Given the description of an element on the screen output the (x, y) to click on. 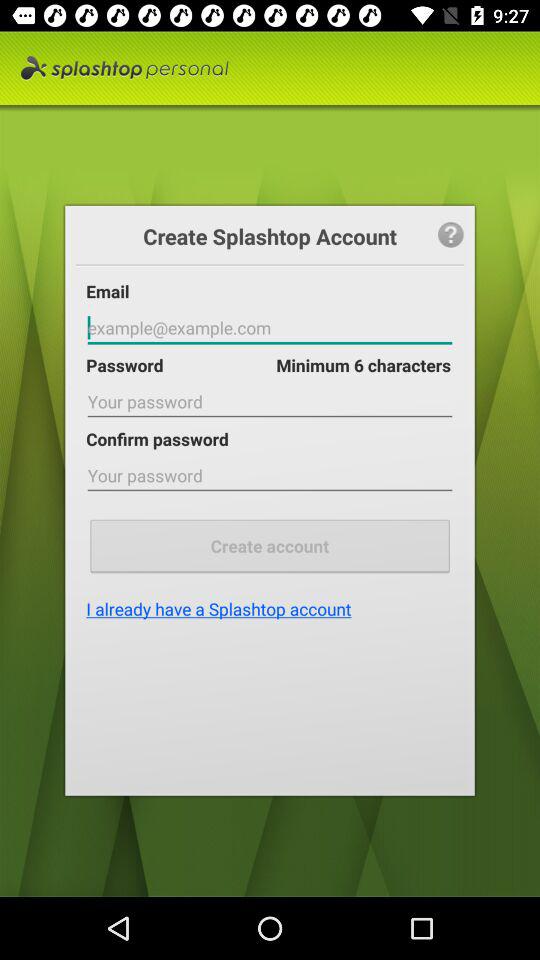
fill in email sign in (269, 328)
